Given the description of an element on the screen output the (x, y) to click on. 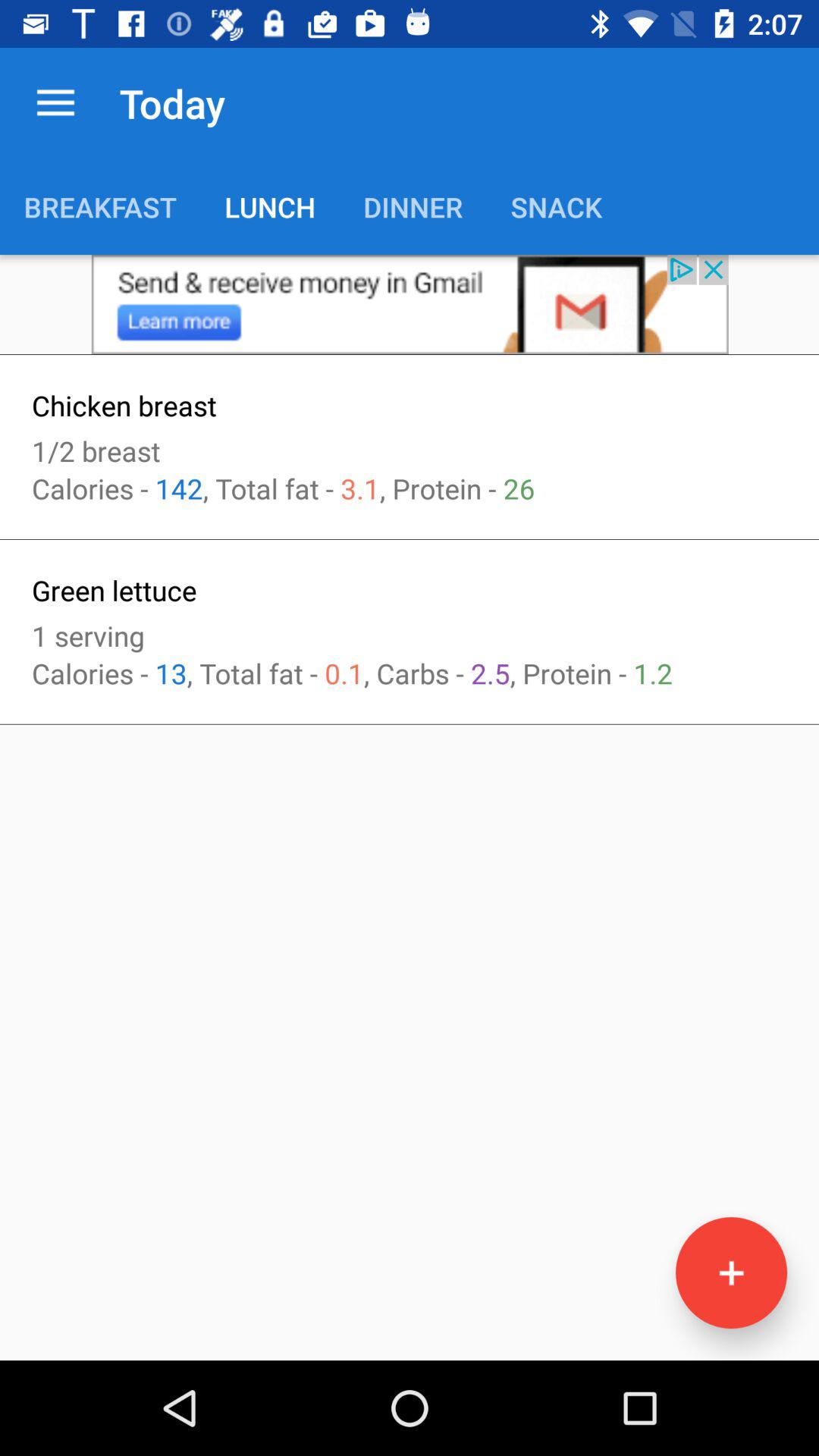
click on add more icon (731, 1273)
